Given the description of an element on the screen output the (x, y) to click on. 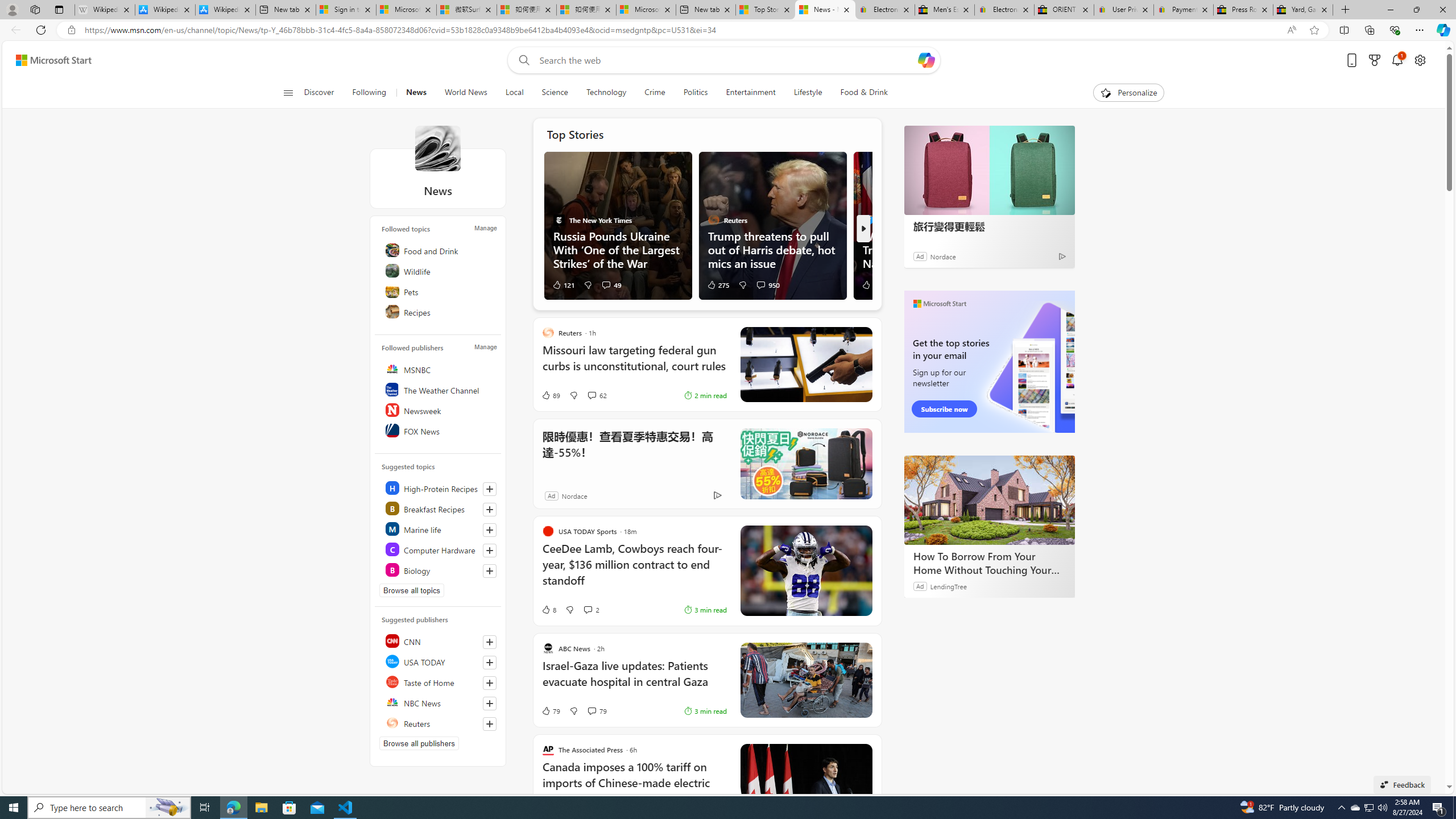
Yard, Garden & Outdoor Living (1303, 9)
View comments 62 Comment (591, 394)
Pets (439, 290)
World News (465, 92)
Open Copilot (926, 59)
Reuters (439, 723)
News - MSN (825, 9)
Science (554, 92)
Skip to content (49, 59)
Food & Drink (859, 92)
